Given the description of an element on the screen output the (x, y) to click on. 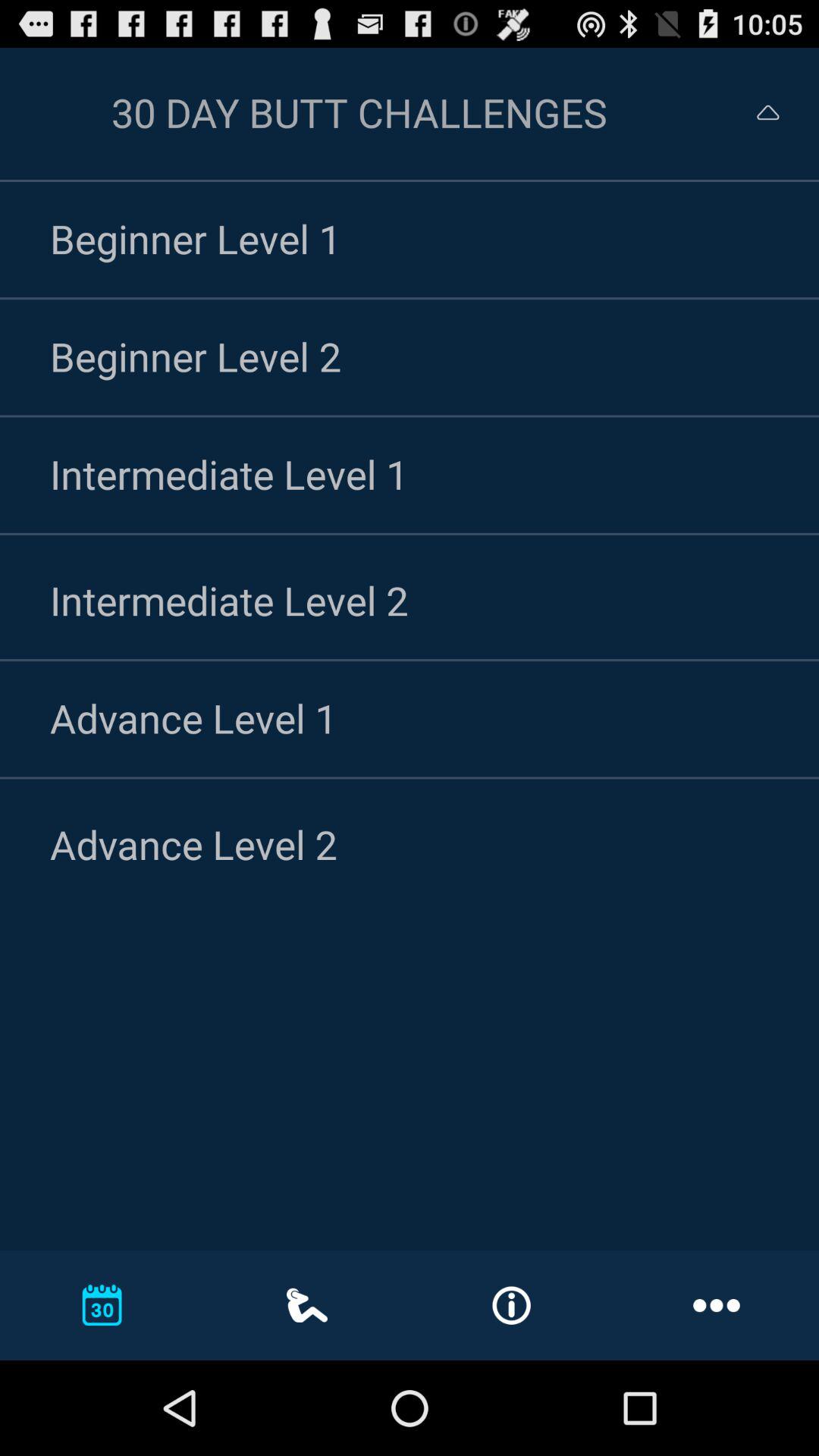
collapse menu (754, 112)
